Given the description of an element on the screen output the (x, y) to click on. 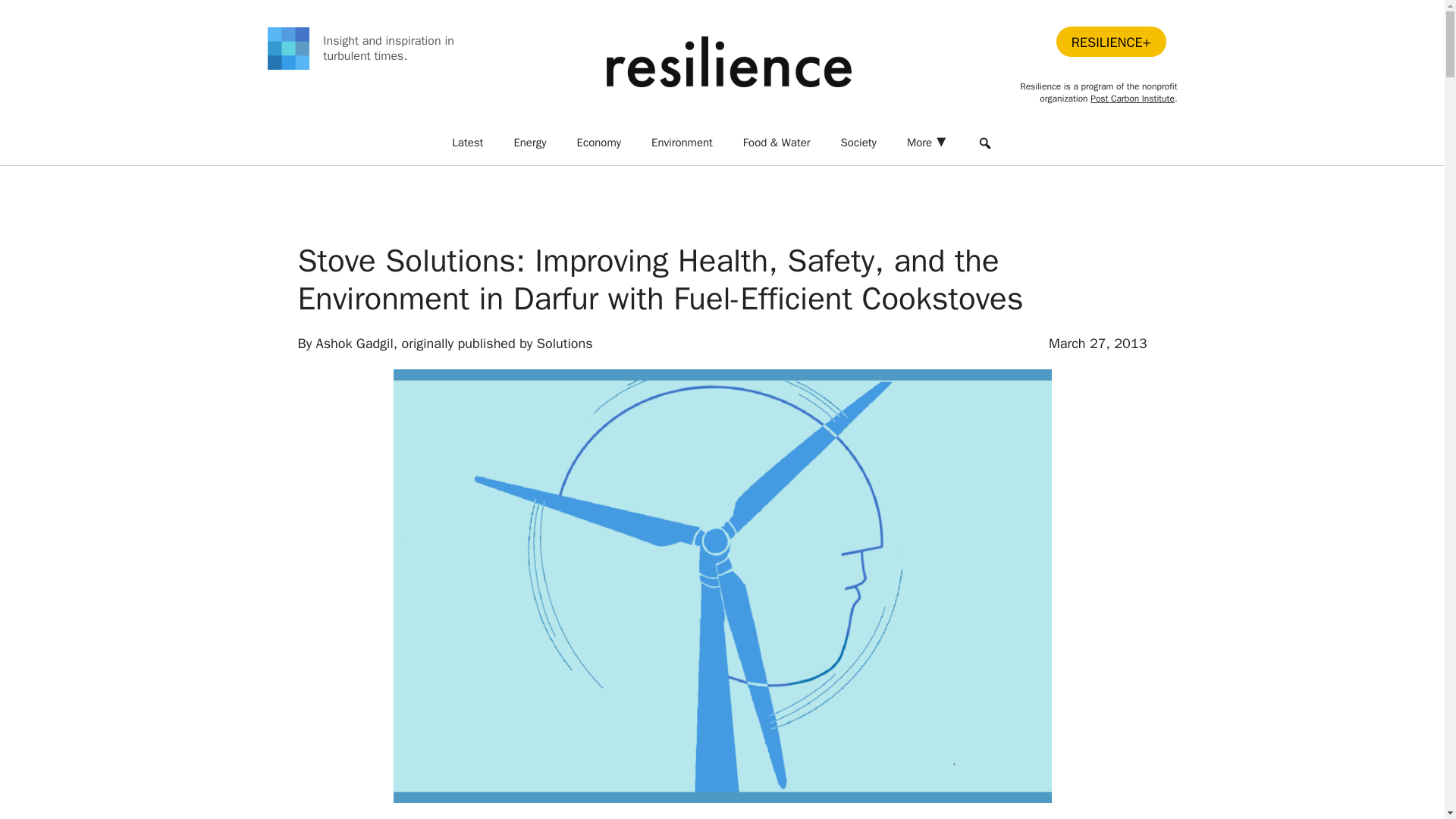
Post Carbon Institute (1132, 98)
